Given the description of an element on the screen output the (x, y) to click on. 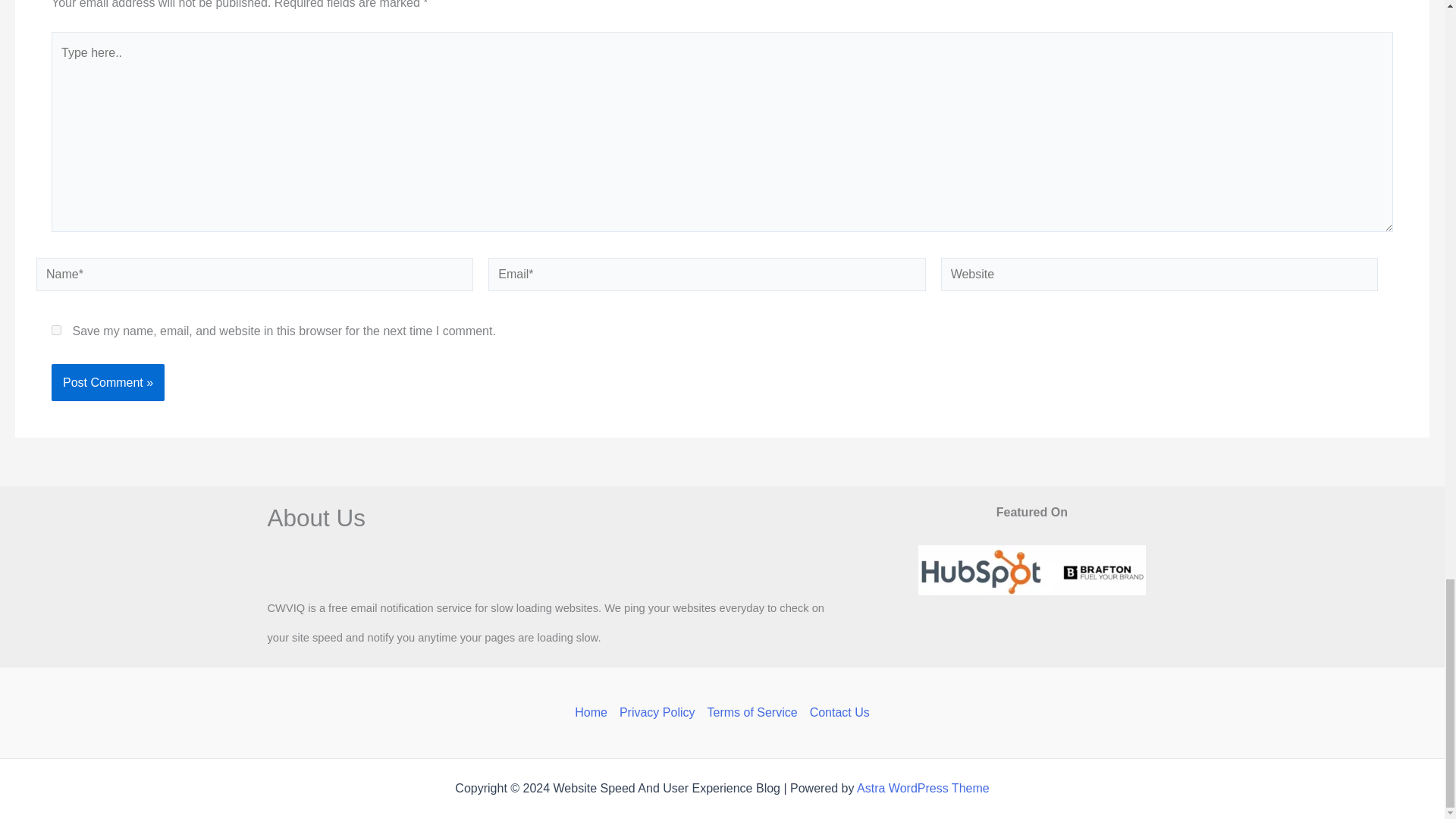
Contact Us (836, 712)
yes (55, 329)
Home (593, 712)
Astra WordPress Theme (923, 788)
Terms of Service (751, 712)
Privacy Policy (656, 712)
